Given the description of an element on the screen output the (x, y) to click on. 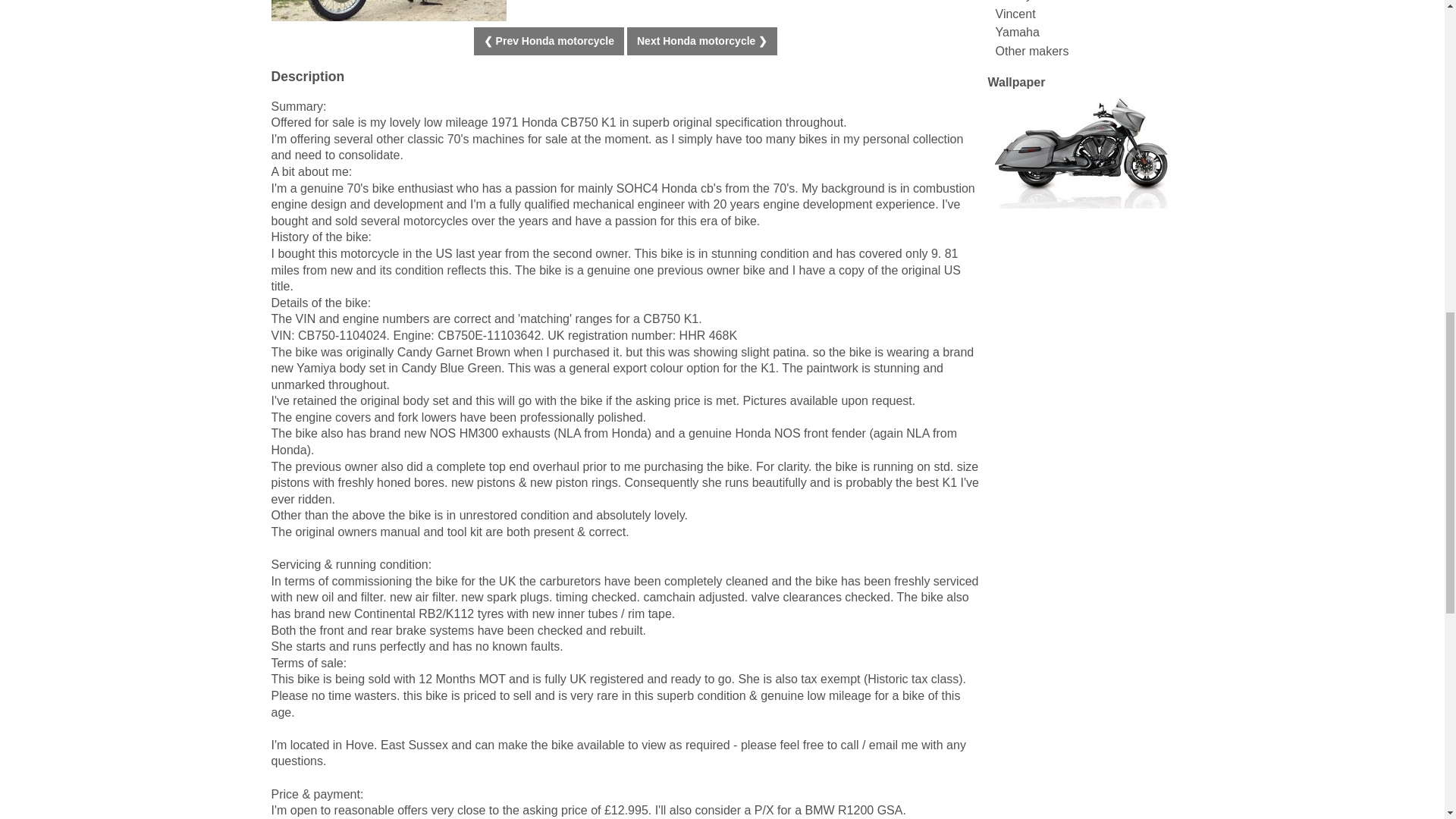
Next Honda moto for sale (702, 41)
Previous Honda moto for sale (549, 41)
1971 Honda CB750 K1 - Stunning Example, 9681 miles (388, 10)
